Given the description of an element on the screen output the (x, y) to click on. 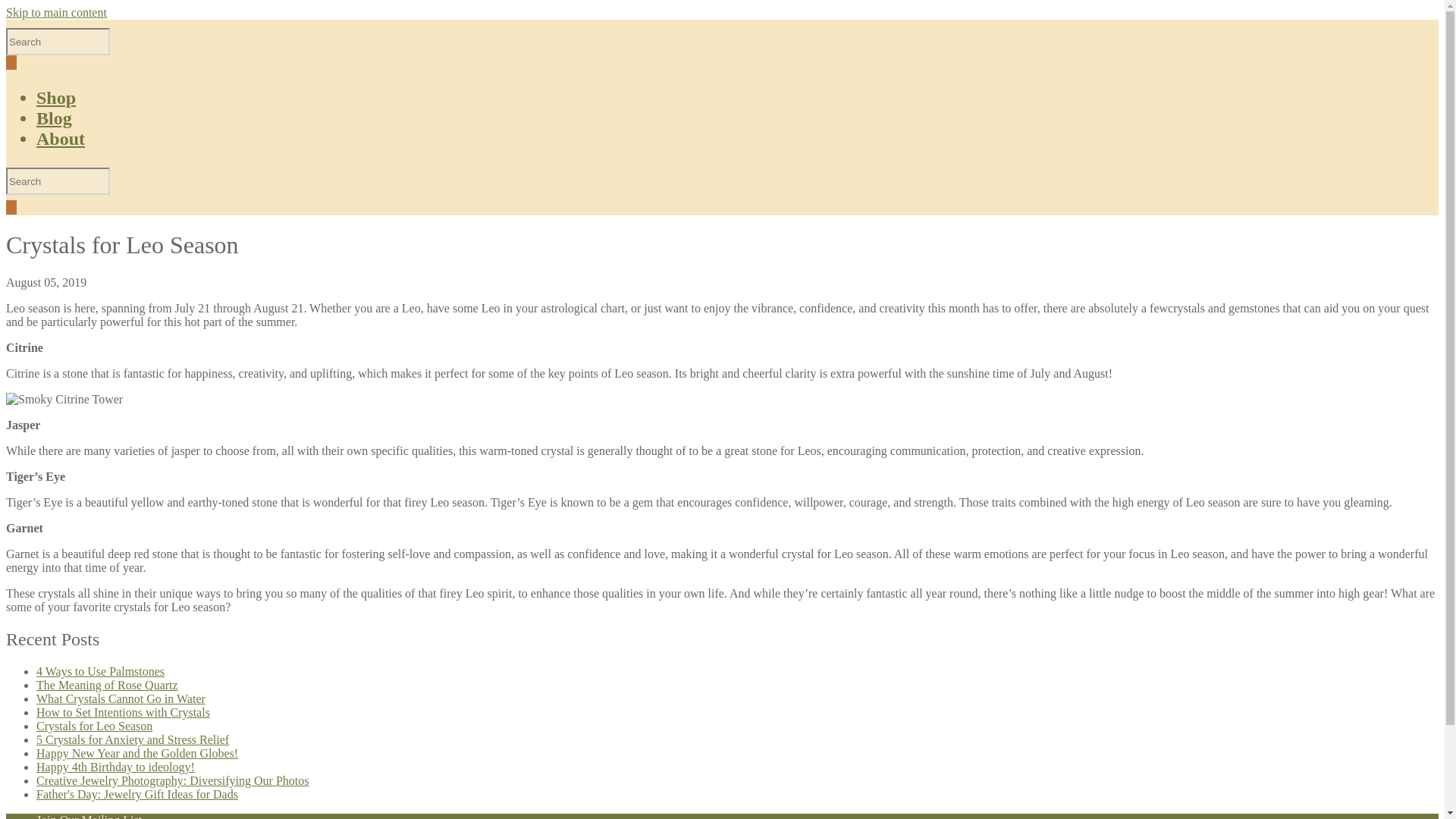
Creative Jewelry Photography: Diversifying Our Photos (172, 780)
Blog (53, 117)
How to Set Intentions with Crystals (122, 712)
Skip to main content (55, 11)
5 Crystals for Anxiety and Stress Relief (132, 739)
Enter the terms you wish to search for. (57, 41)
Father's Day: Jewelry Gift Ideas for Dads (137, 793)
Crystals for Leo Season (94, 725)
Happy 4th Birthday to ideology! (115, 766)
Shop (55, 97)
